Given the description of an element on the screen output the (x, y) to click on. 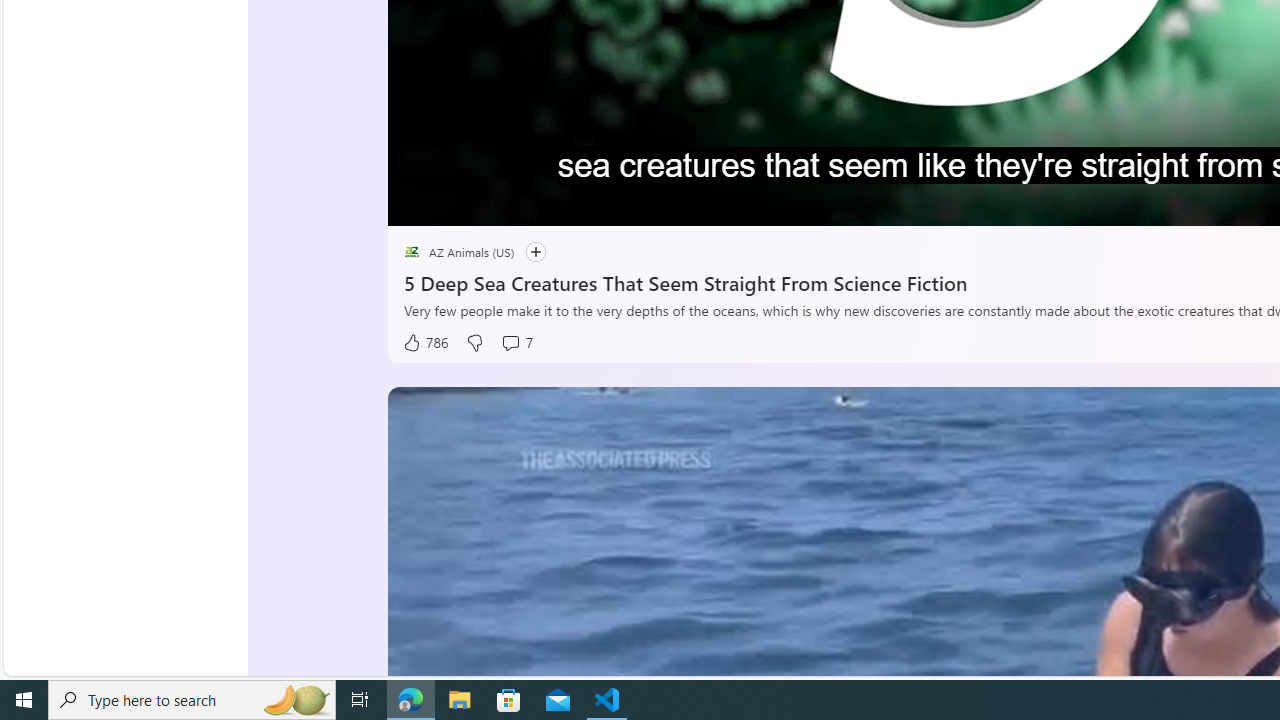
Seek Forward (497, 203)
View comments 7 Comment (516, 343)
Follow (526, 251)
placeholder AZ Animals (US) (459, 252)
To get missing image descriptions, open the context menu. (458, 202)
Pause (417, 203)
786 Like (425, 343)
placeholder (411, 252)
Seek Back (457, 203)
